Given the description of an element on the screen output the (x, y) to click on. 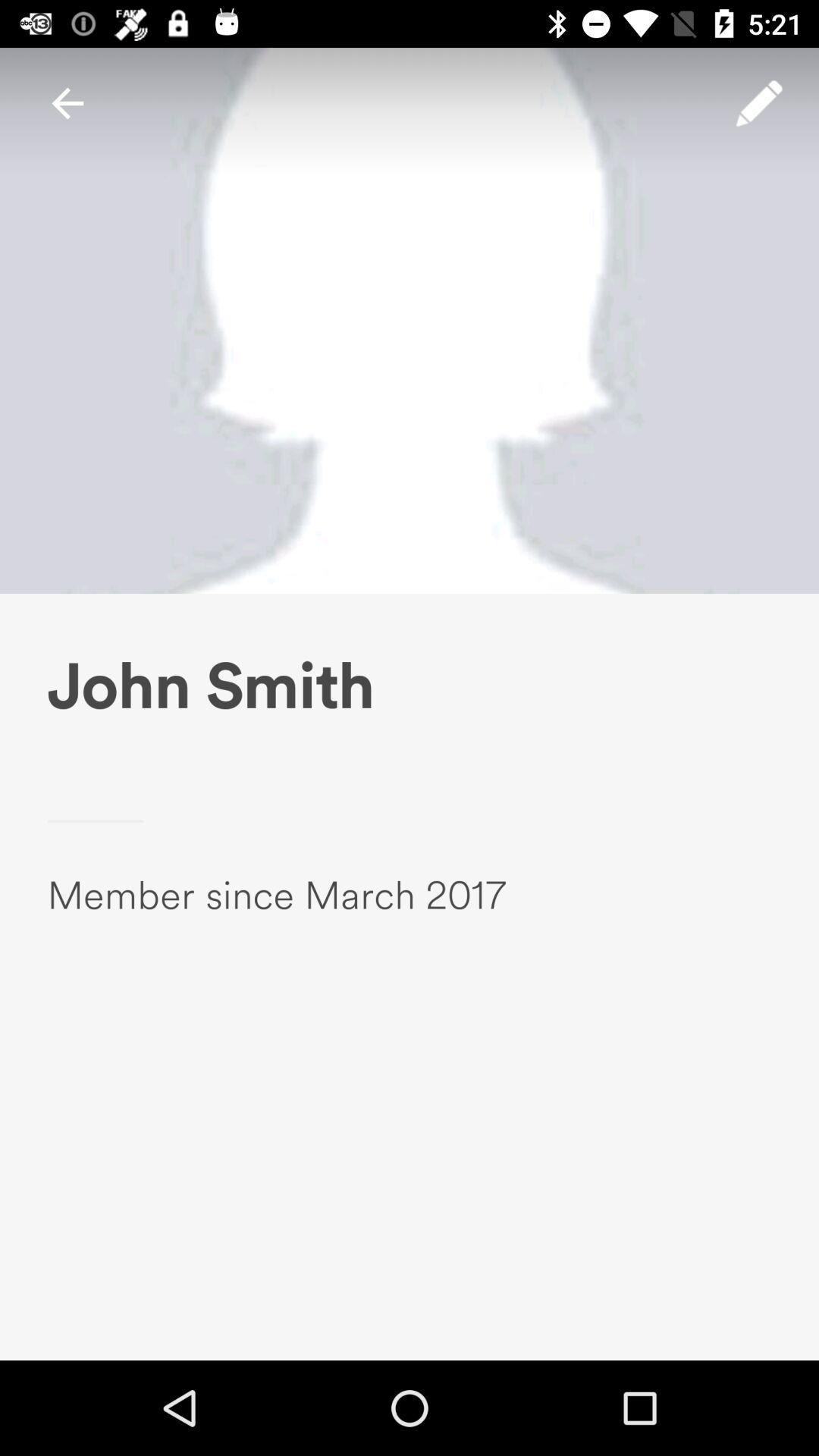
open the item above the john smith (759, 103)
